Given the description of an element on the screen output the (x, y) to click on. 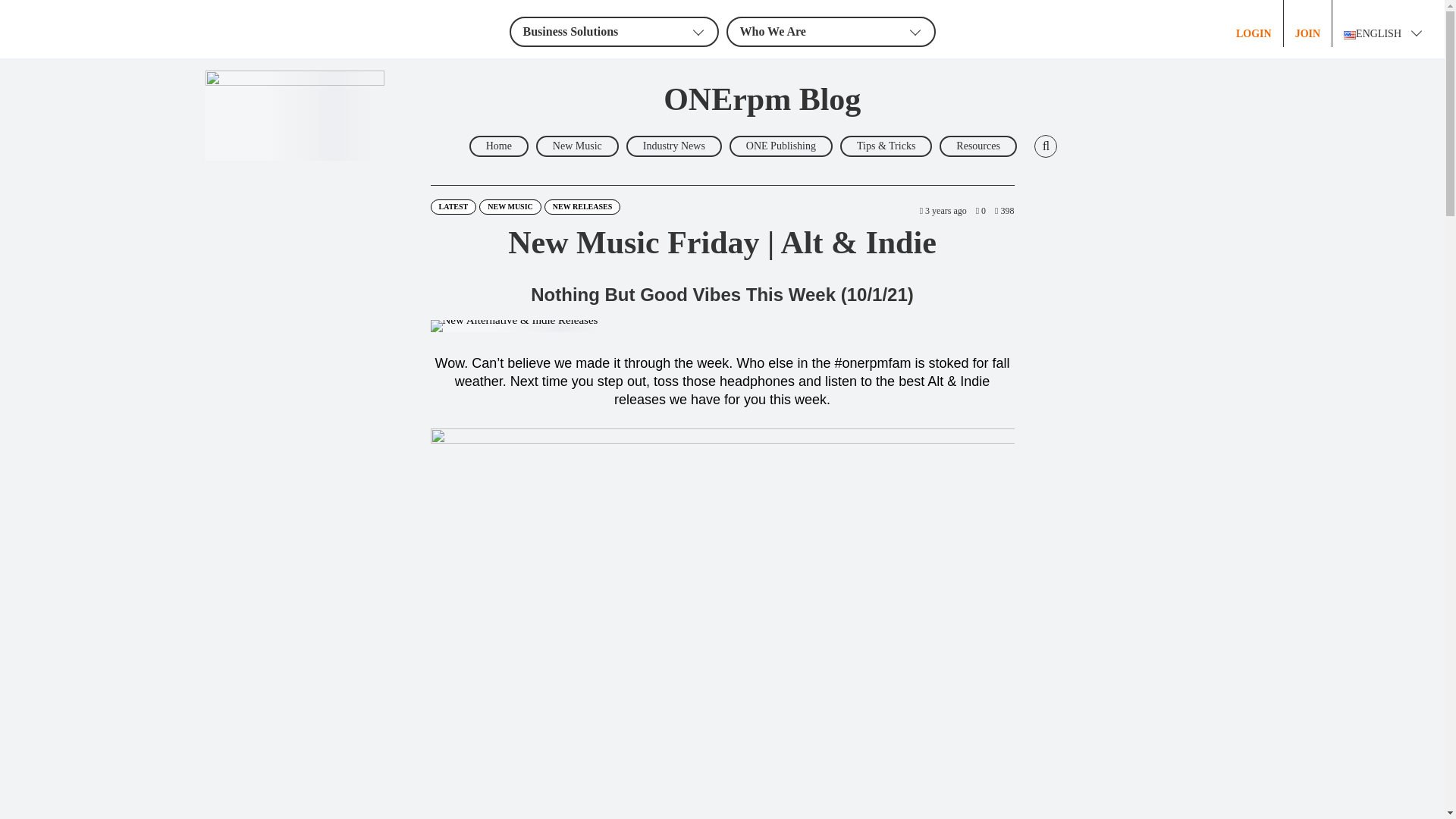
Who We Are (831, 31)
Business Solutions (614, 31)
ENGLISH (1386, 23)
